Given the description of an element on the screen output the (x, y) to click on. 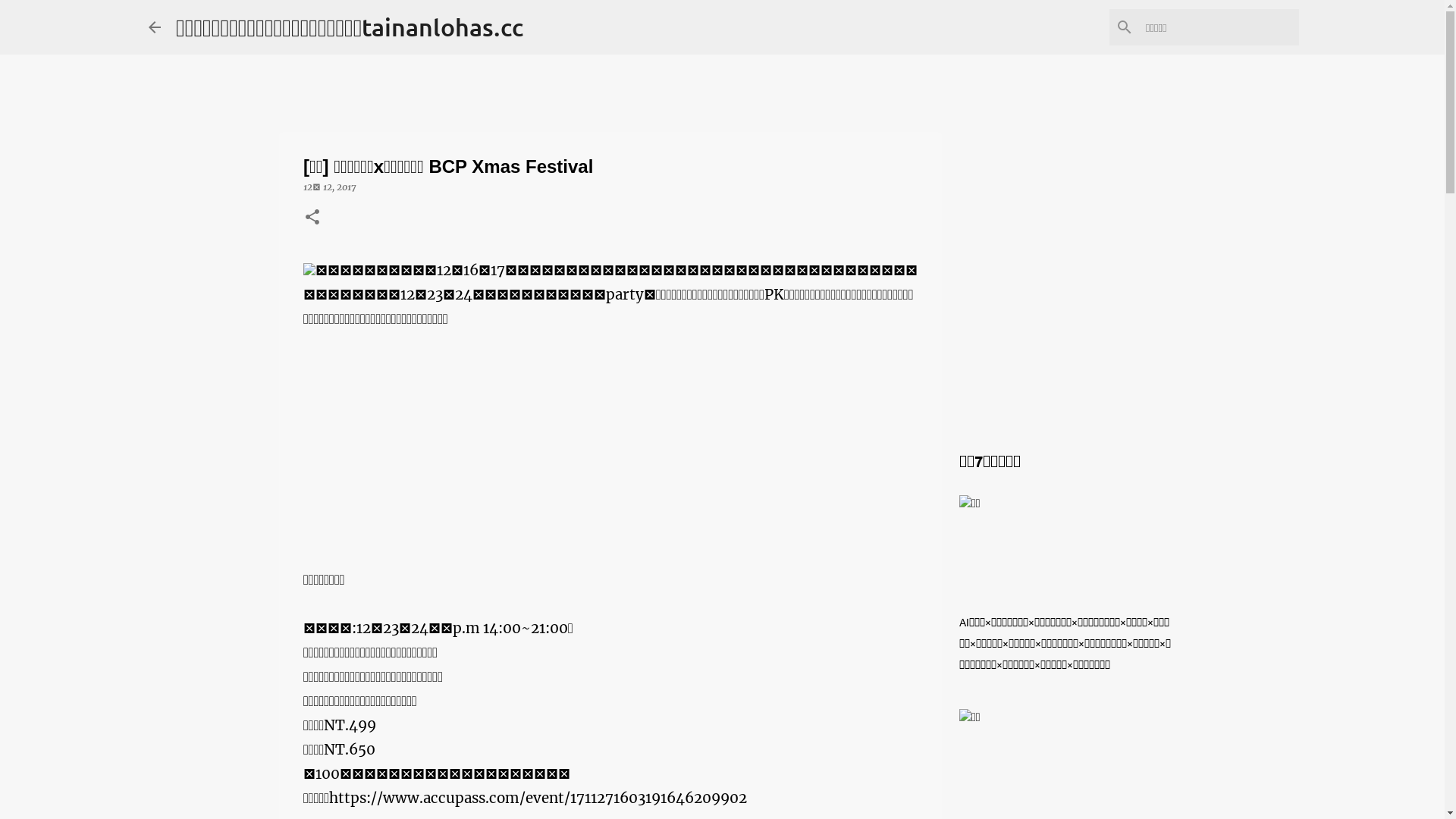
Advertisement Element type: hover (610, 461)
